Given the description of an element on the screen output the (x, y) to click on. 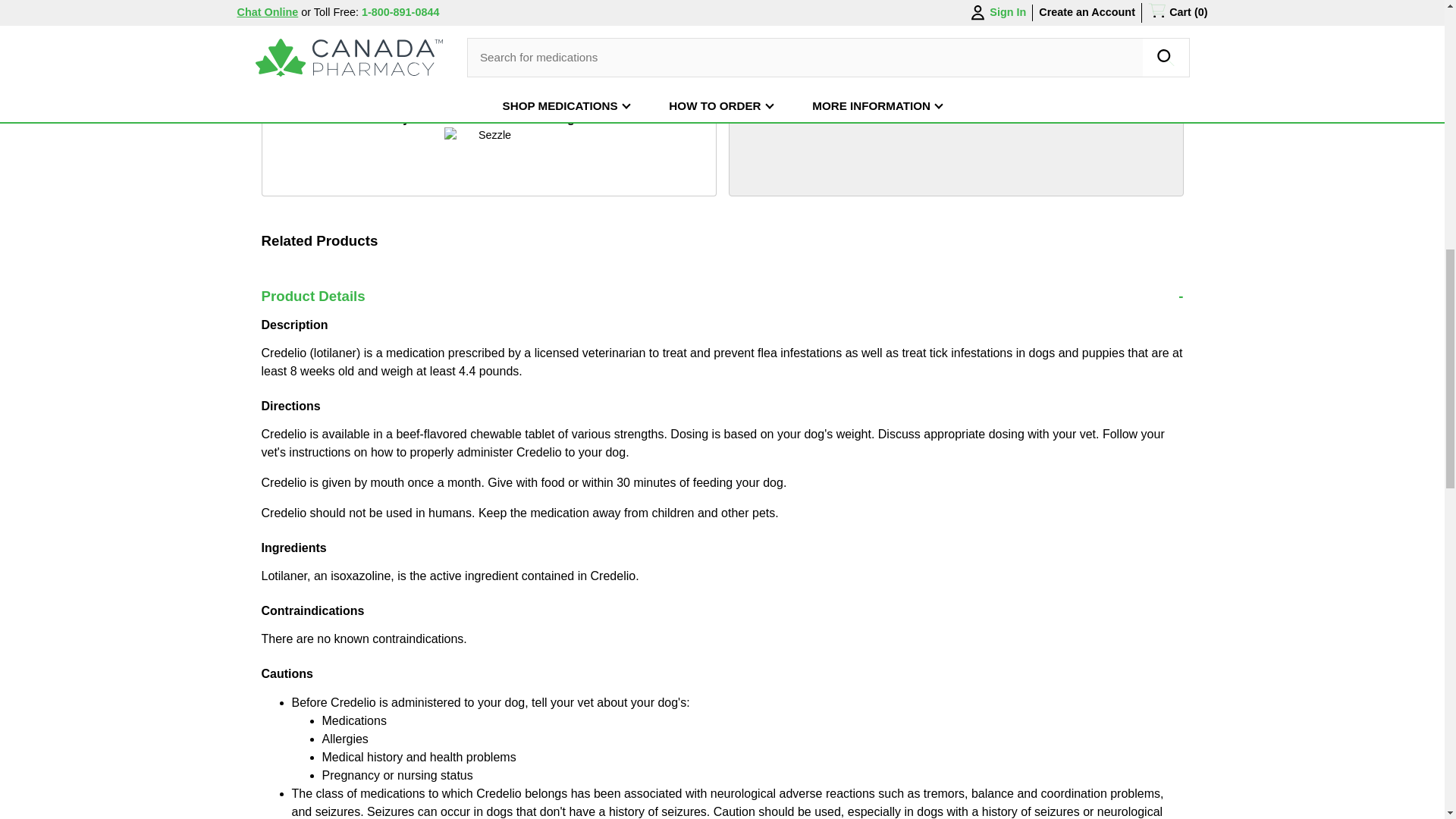
Add To Cart (644, 57)
Add To Cart (644, 10)
Add To Cart (644, 57)
Add To Cart (644, 10)
